Given the description of an element on the screen output the (x, y) to click on. 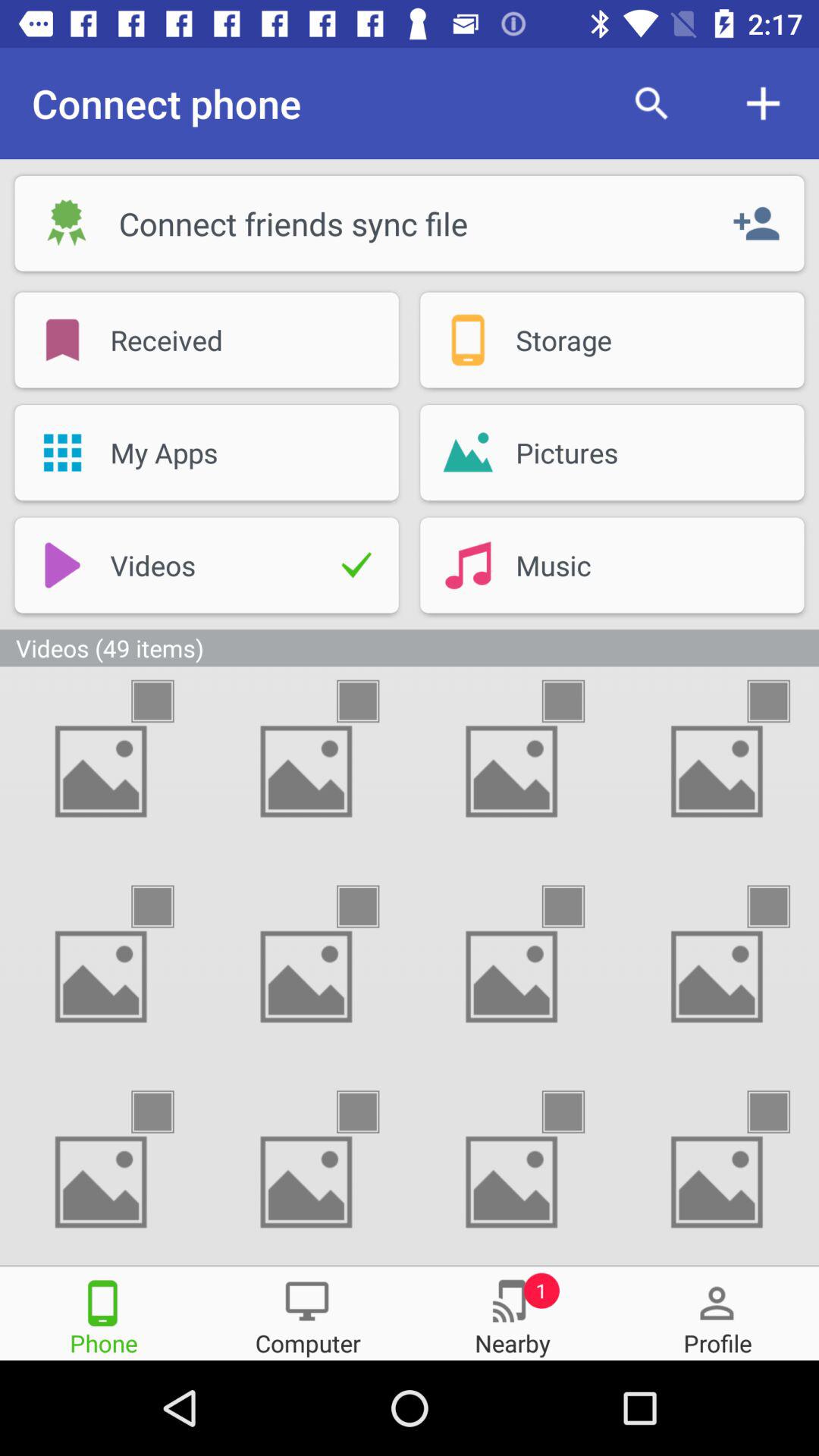
select the option (576, 906)
